Given the description of an element on the screen output the (x, y) to click on. 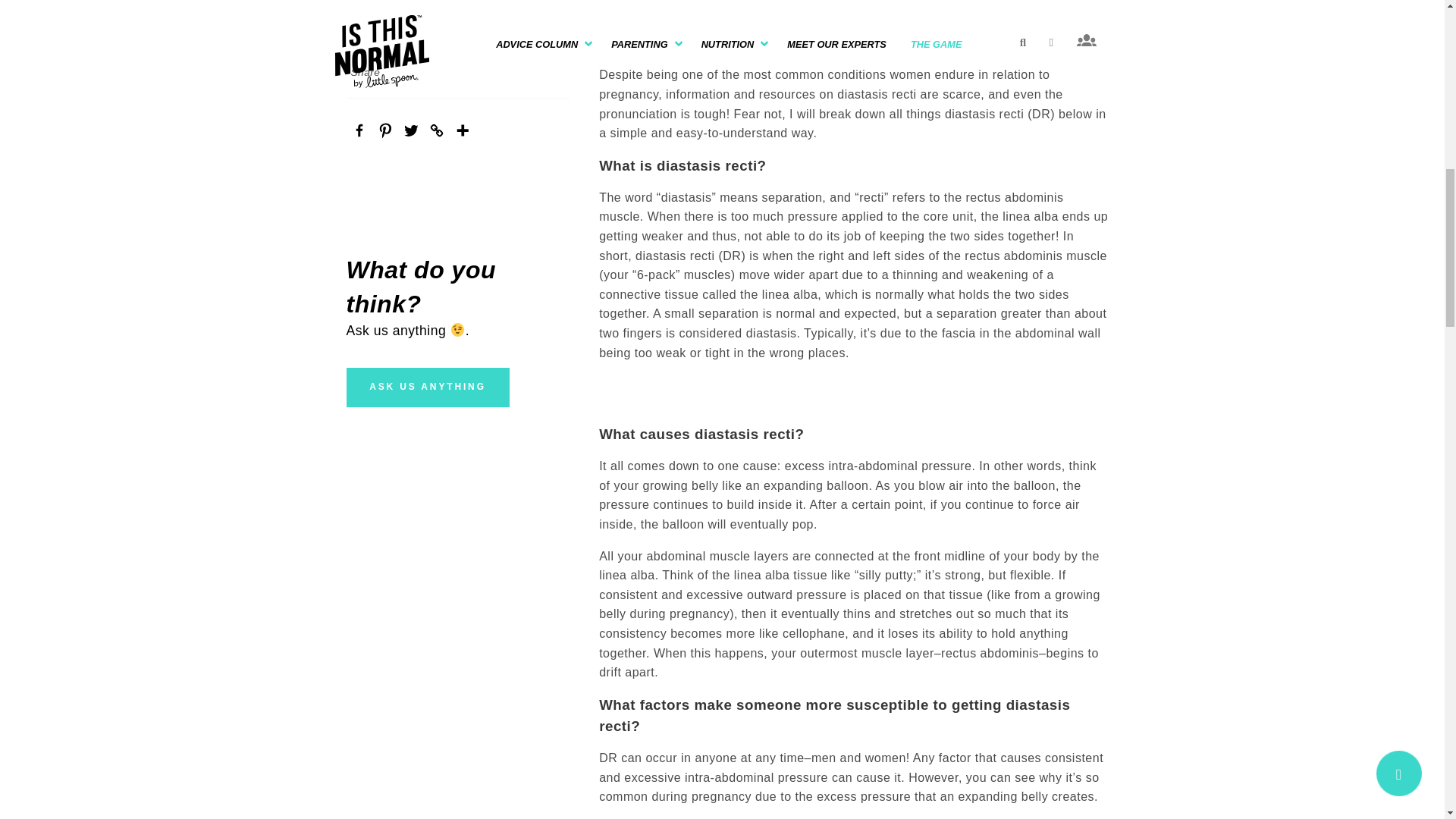
Twitter (410, 129)
Pinterest (384, 129)
More (461, 129)
Facebook (358, 129)
Copy Link (435, 129)
